Given the description of an element on the screen output the (x, y) to click on. 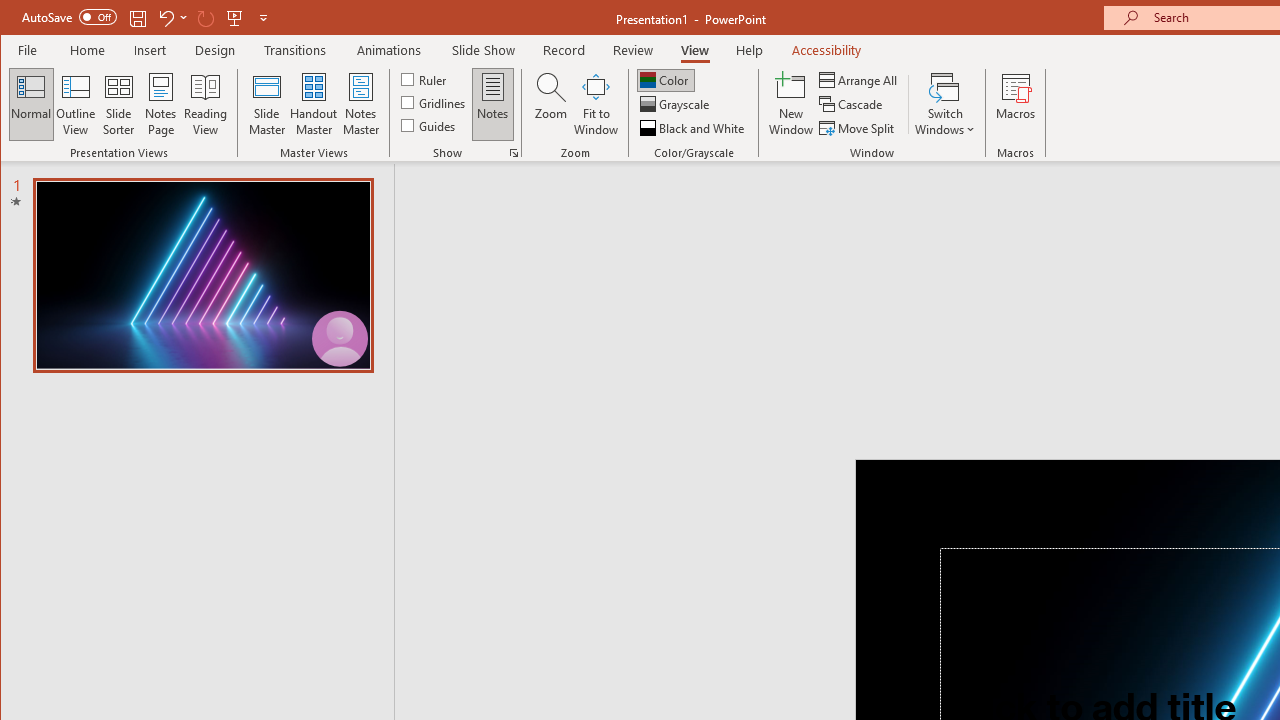
Fit to Window (596, 104)
New Window (791, 104)
Notes (493, 104)
